Given the description of an element on the screen output the (x, y) to click on. 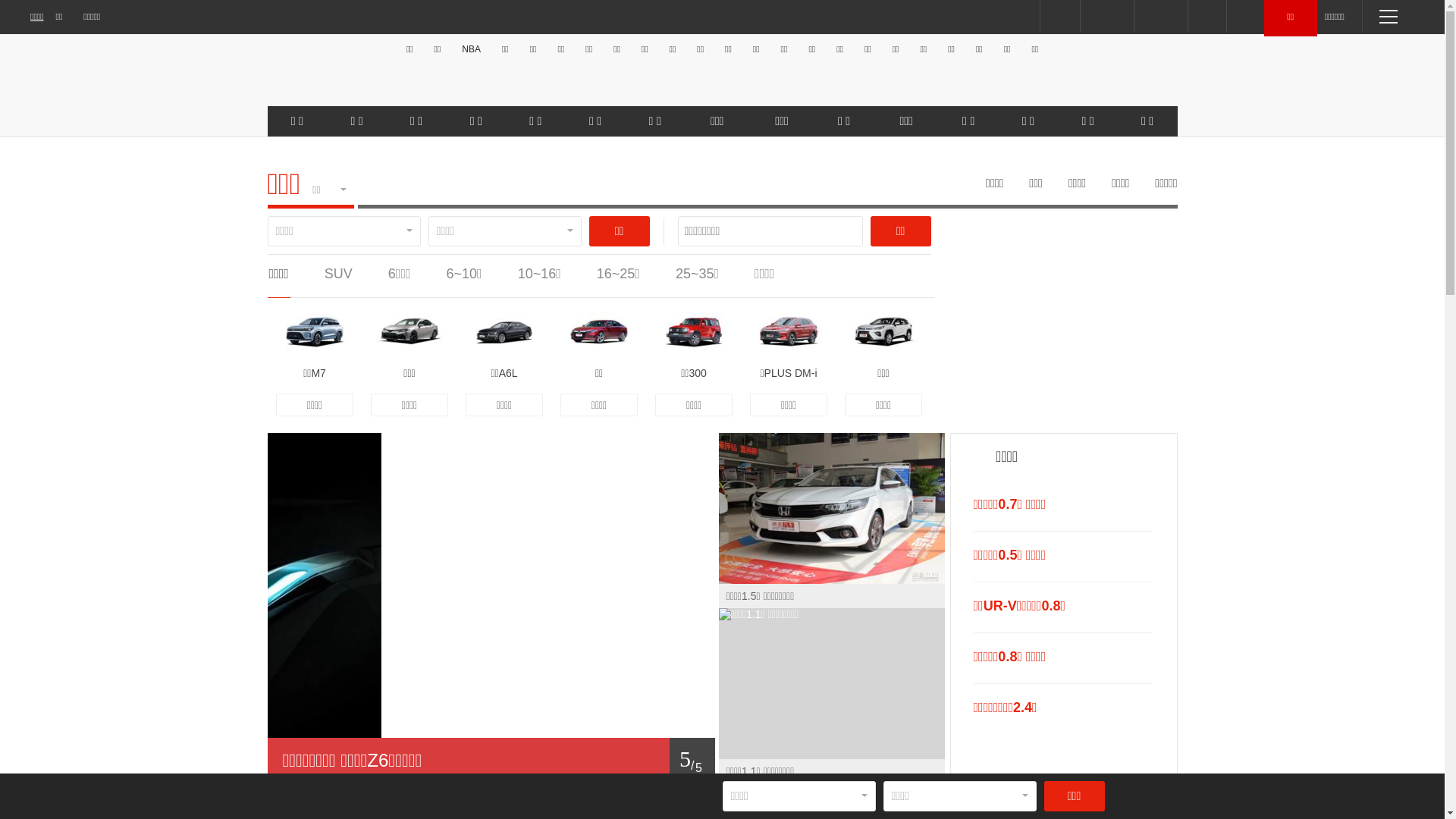
1/ 5 Element type: text (490, 760)
SUV Element type: text (338, 273)
NBA Element type: text (471, 48)
